Given the description of an element on the screen output the (x, y) to click on. 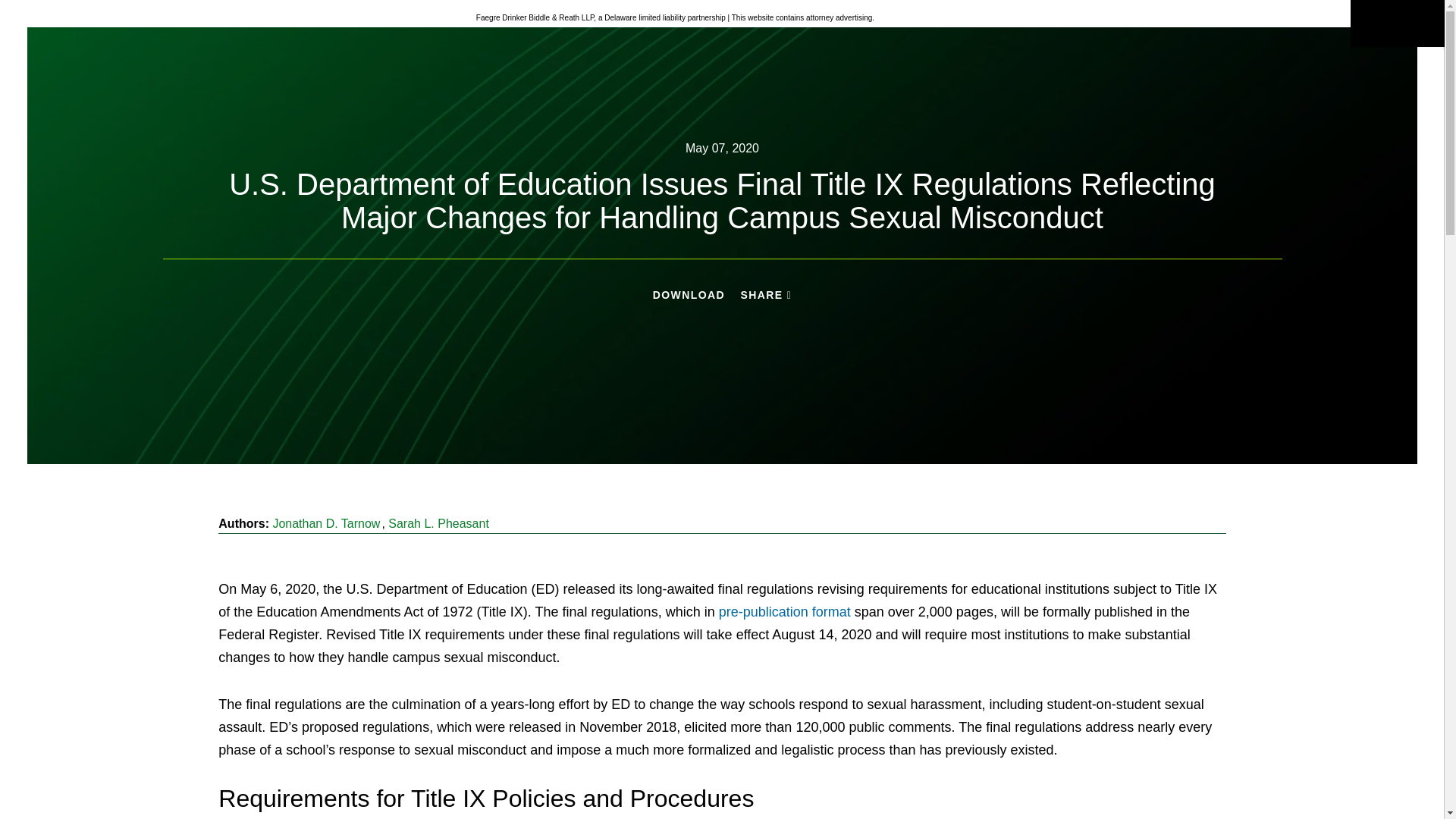
Sarah L. Pheasant (438, 522)
pre-publication format (784, 611)
DOWNLOAD (688, 295)
Jonathan D. Tarnow (326, 522)
SHARE (765, 295)
